Given the description of an element on the screen output the (x, y) to click on. 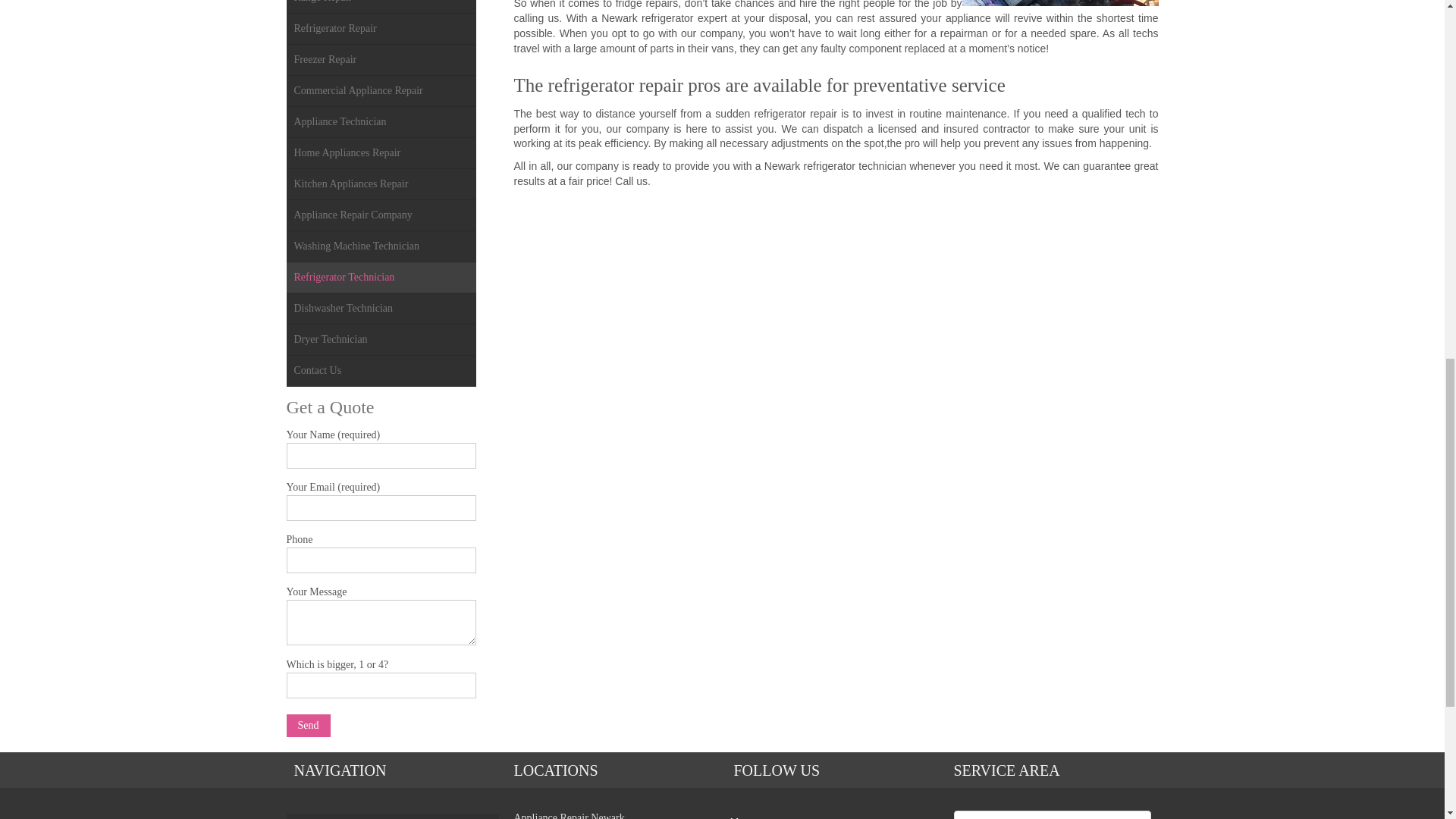
Send (308, 725)
